Given the description of an element on the screen output the (x, y) to click on. 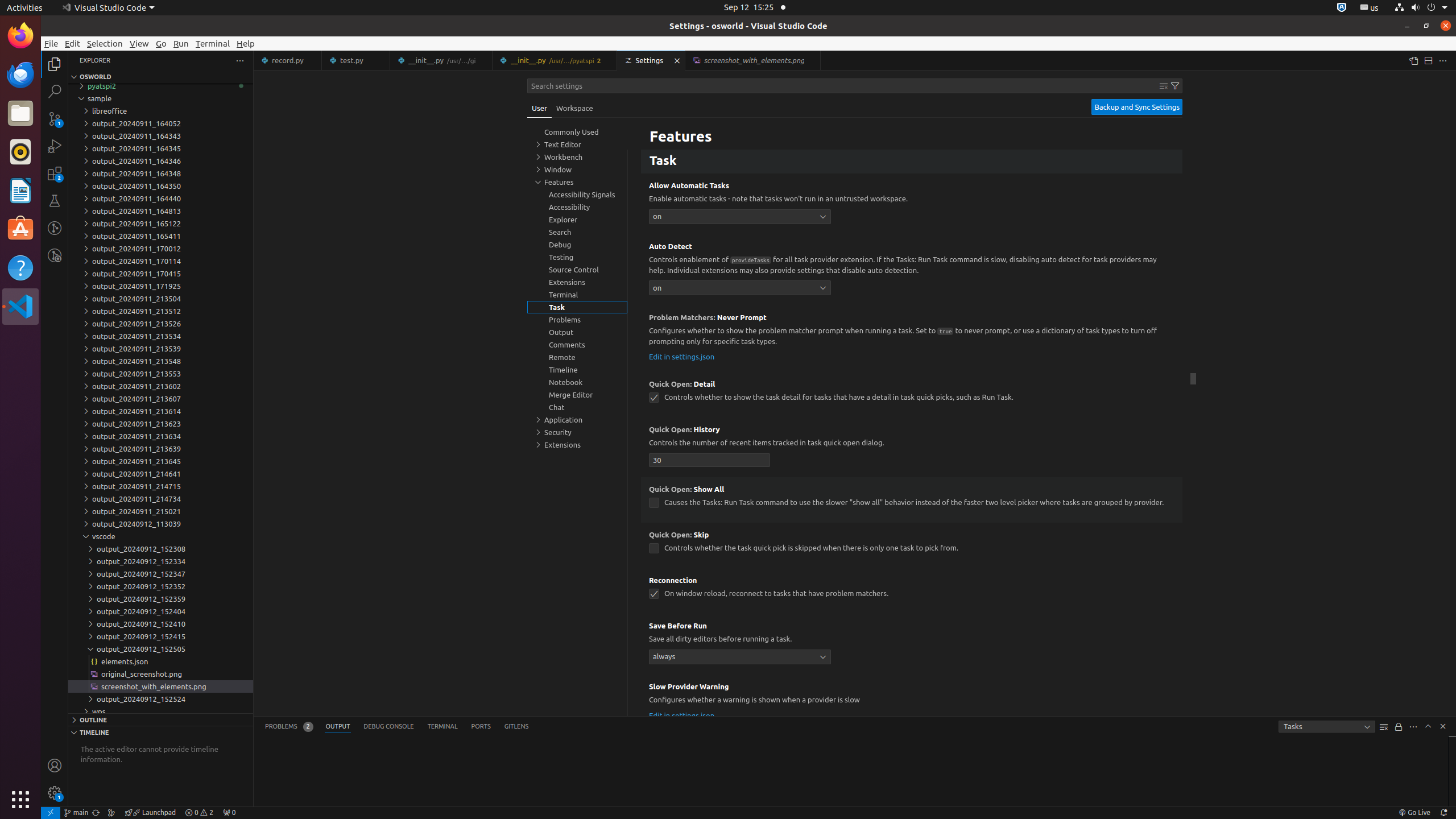
output_20240911_215021 Element type: tree-item (160, 511)
Notebook, group Element type: tree-item (577, 381)
output_20240911_171925 Element type: tree-item (160, 285)
output_20240912_152404 Element type: tree-item (160, 611)
output_20240911_213539 Element type: tree-item (160, 348)
